Given the description of an element on the screen output the (x, y) to click on. 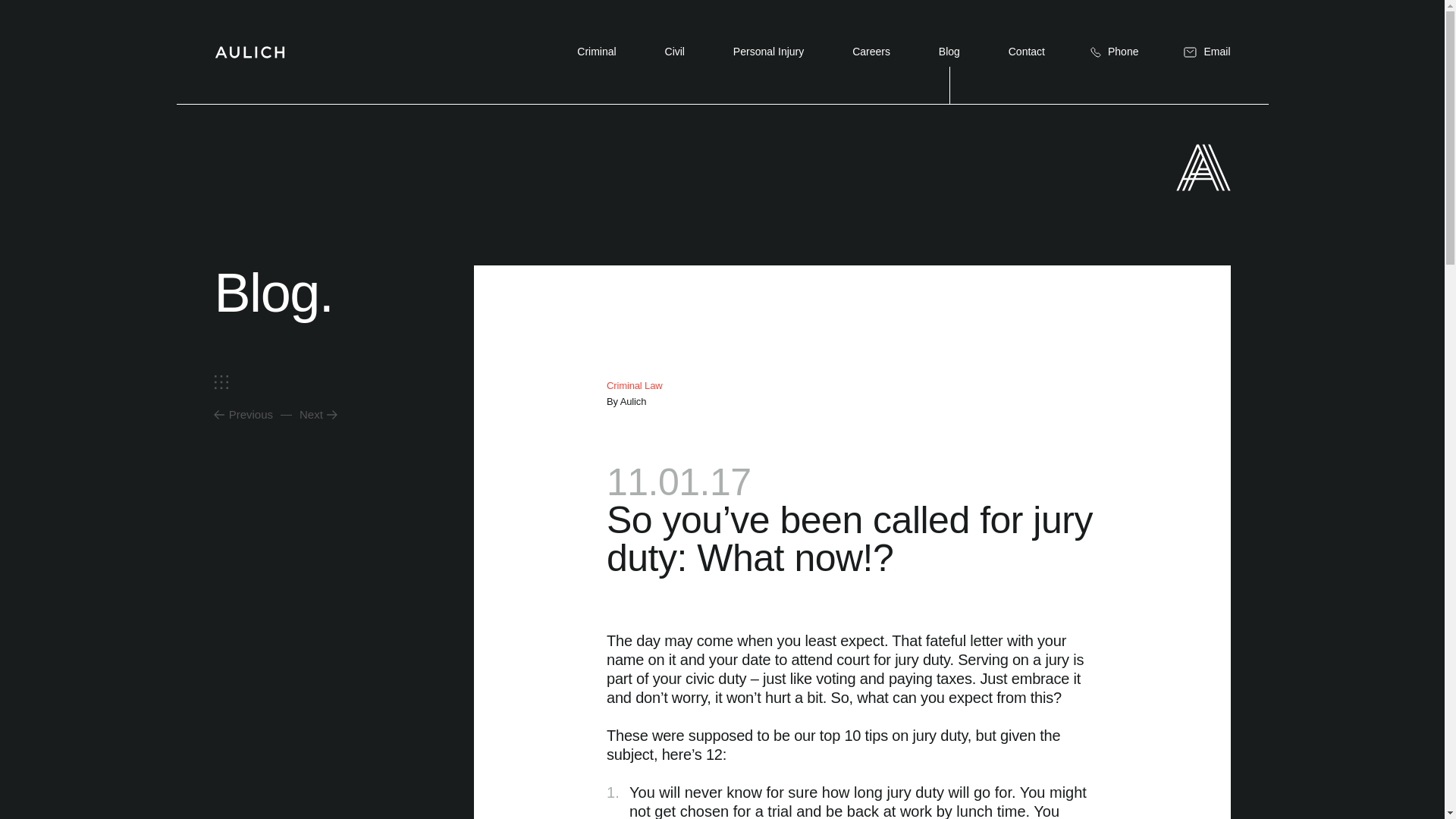
Aulich (248, 51)
Personal Injury (768, 52)
Phone (1113, 52)
